Given the description of an element on the screen output the (x, y) to click on. 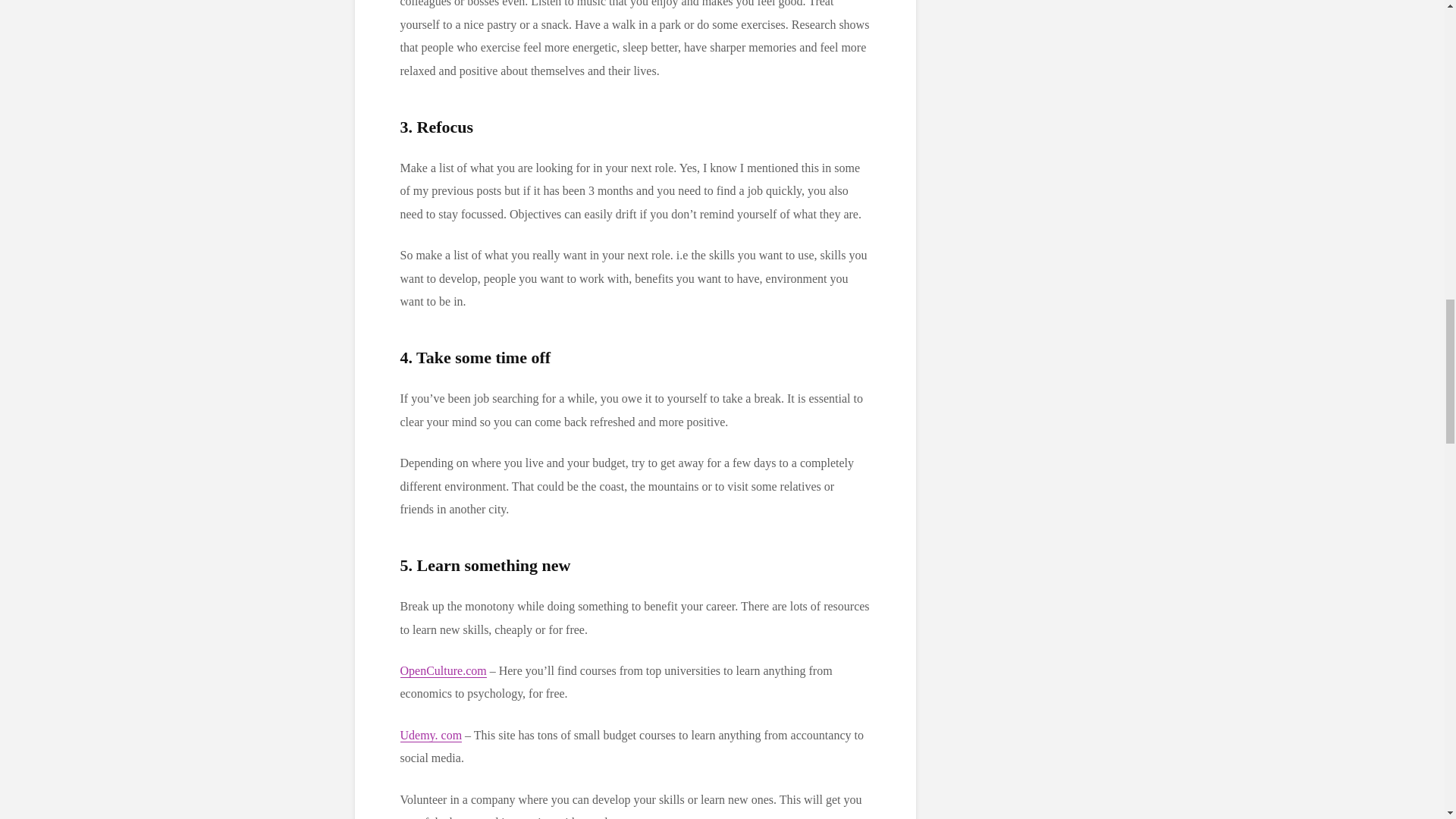
OpenCulture.com (443, 671)
Udemy. com (431, 735)
